Given the description of an element on the screen output the (x, y) to click on. 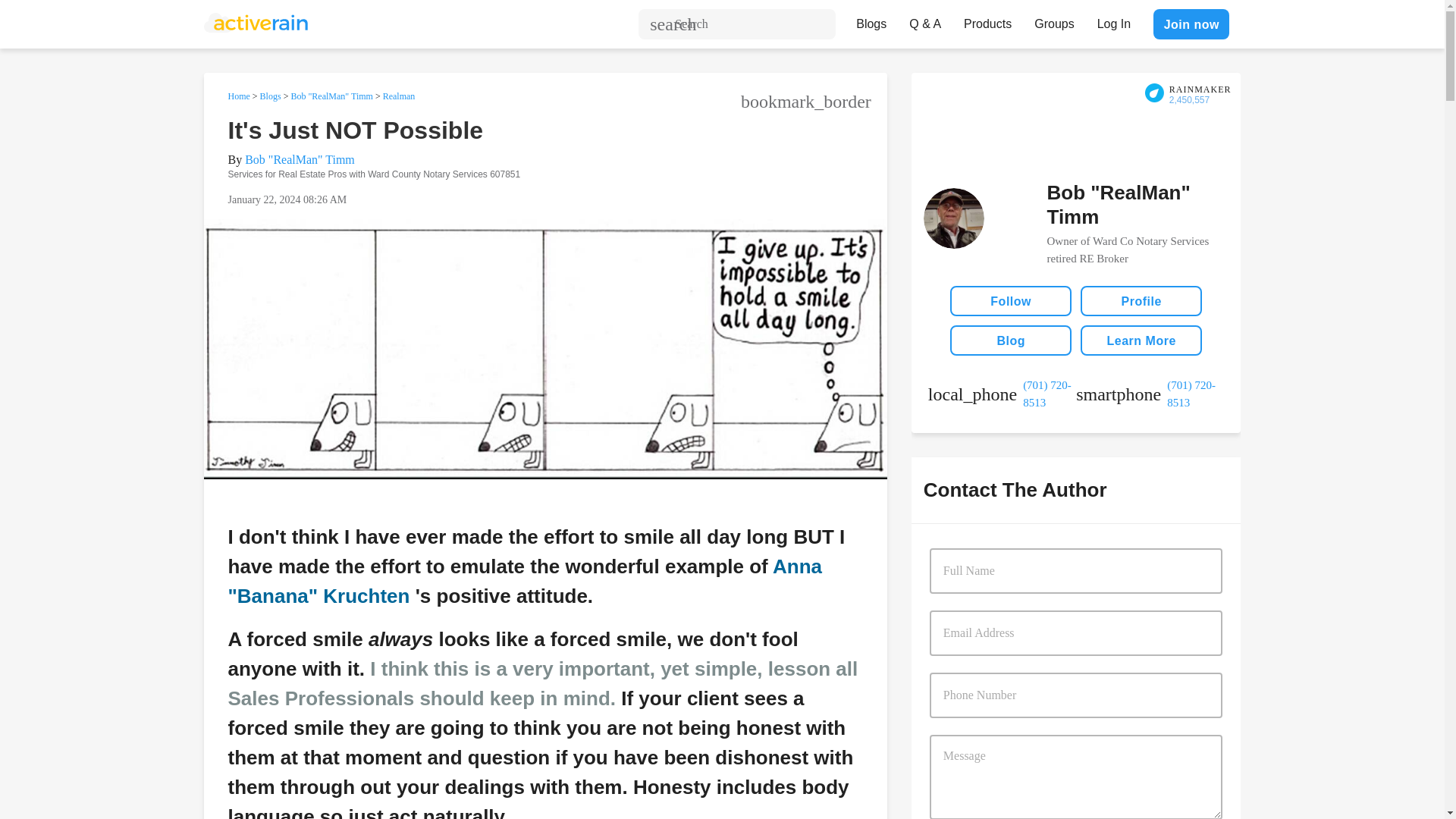
Join now (1190, 24)
Groups (1053, 19)
Products (986, 19)
Blogs (870, 19)
Log In (1113, 19)
Blogs (270, 95)
cell (1149, 393)
work (1001, 393)
Home (237, 95)
Bob "RealMan" Timm (330, 95)
